Given the description of an element on the screen output the (x, y) to click on. 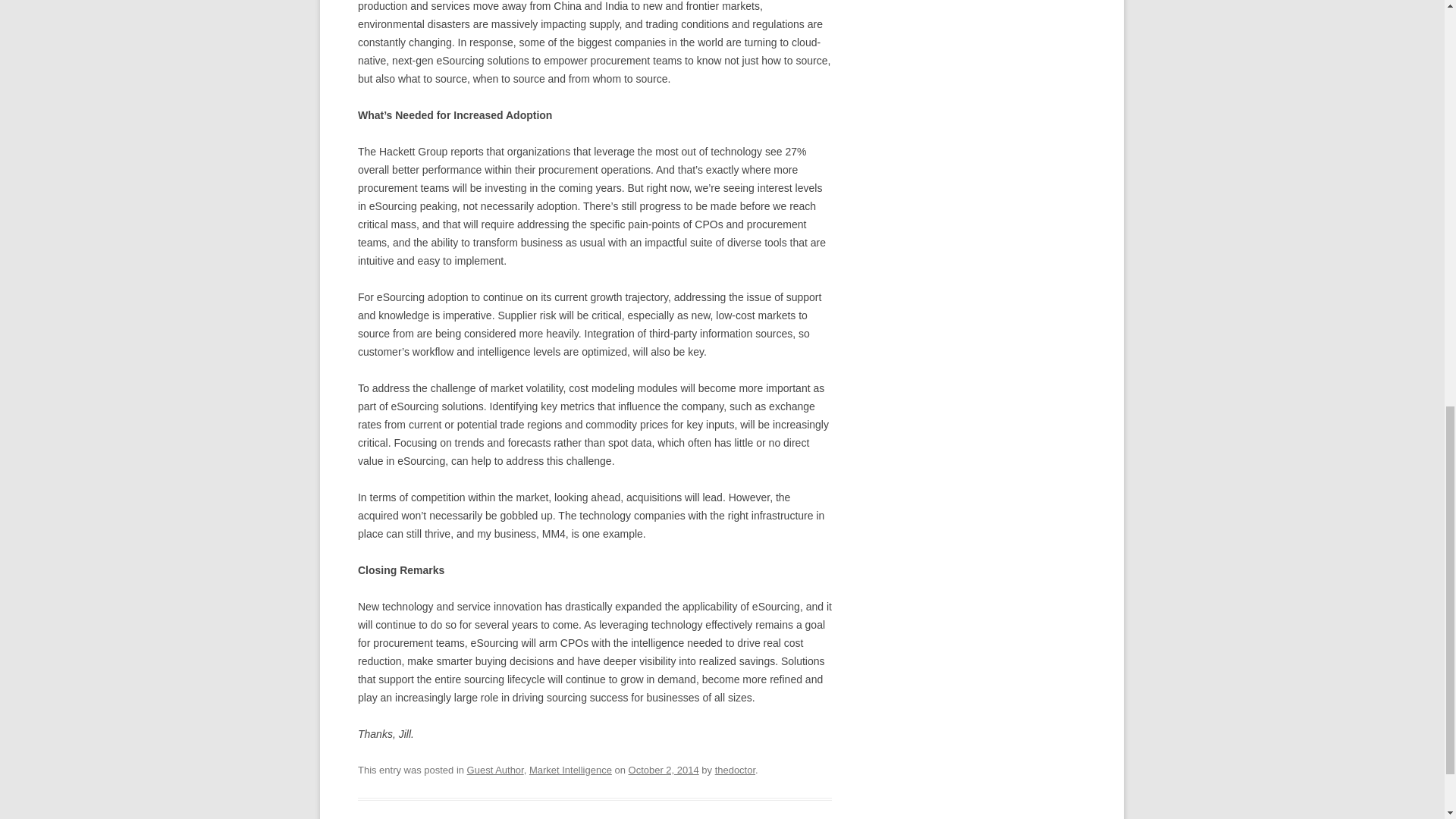
thedoctor (734, 769)
View all posts by thedoctor (734, 769)
Guest Author (495, 769)
October 2, 2014 (663, 769)
Market Intelligence (570, 769)
5:55 am (663, 769)
